Given the description of an element on the screen output the (x, y) to click on. 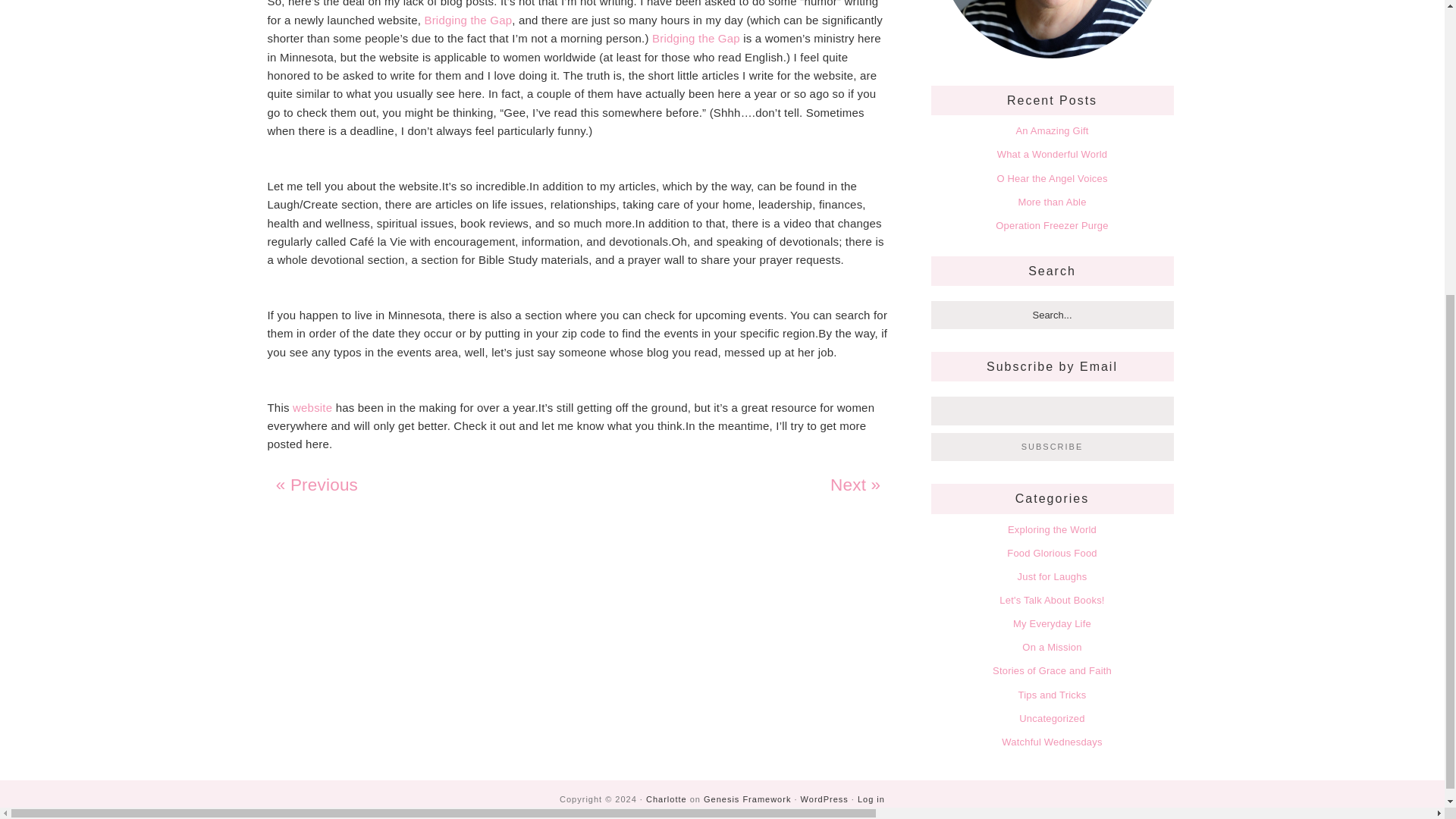
Charlotte (666, 798)
Tips and Tricks (1051, 695)
Bridging the Gap (695, 38)
My Everyday Life (1051, 623)
Log in (871, 798)
O Hear the Angel Voices (1050, 178)
Subscribe (1052, 447)
More than Able (1051, 202)
Exploring the World (1051, 529)
Subscribe (1052, 447)
Food Glorious Food (1052, 552)
Just for Laughs (1052, 576)
WordPress (824, 798)
Stories of Grace and Faith (1052, 670)
On a Mission (1051, 646)
